Given the description of an element on the screen output the (x, y) to click on. 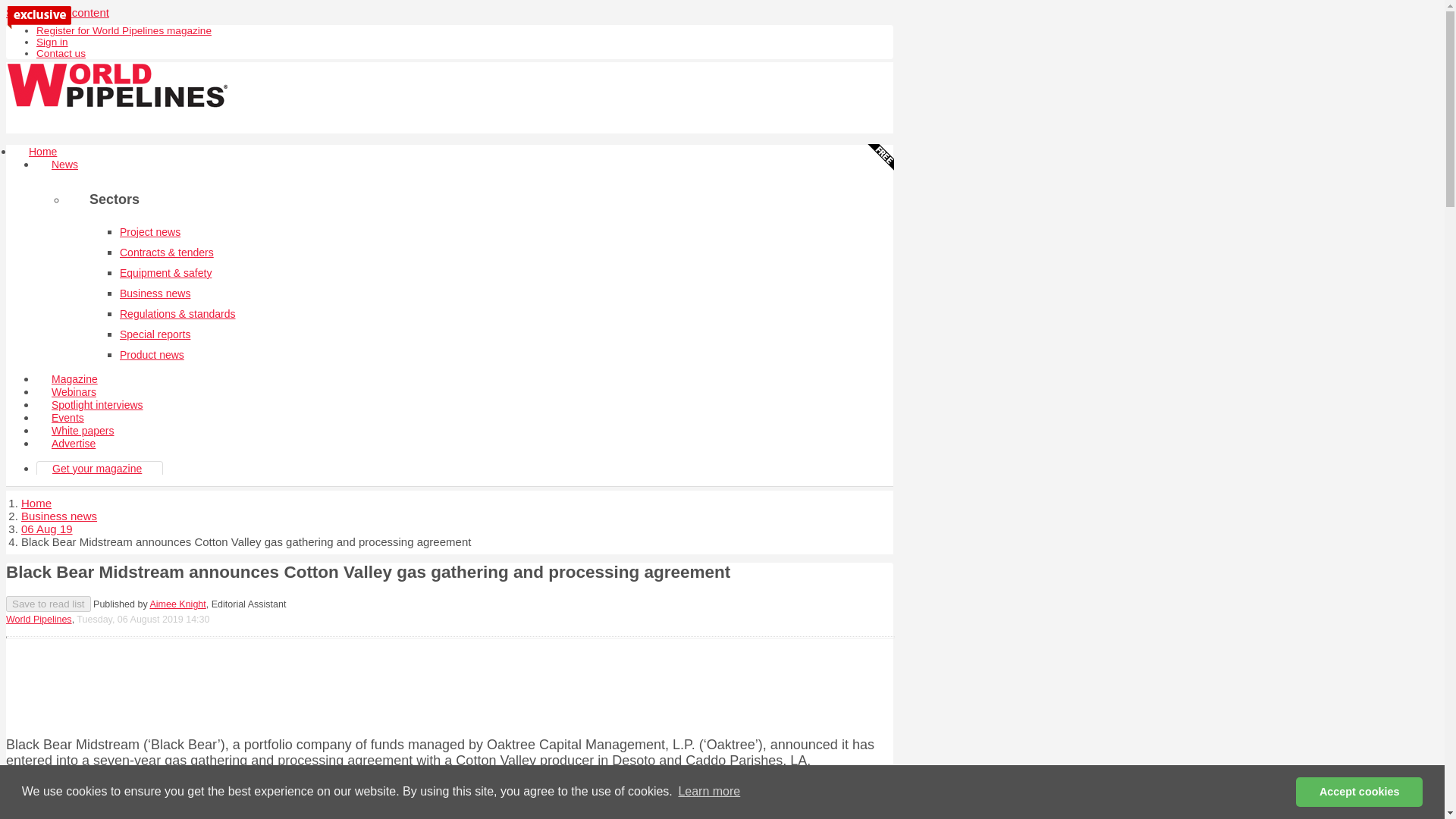
Save to read list (47, 603)
Home (42, 151)
Skip to main content (57, 11)
Sign in (52, 41)
Events (67, 417)
3rd party ad content (449, 683)
Advertise (73, 443)
Magazine (74, 379)
Aimee Knight (177, 603)
Get your magazine (97, 468)
Register for World Pipelines magazine (123, 30)
World Pipelines (38, 619)
Sign in (52, 41)
Contact us (60, 52)
Home (35, 502)
